Given the description of an element on the screen output the (x, y) to click on. 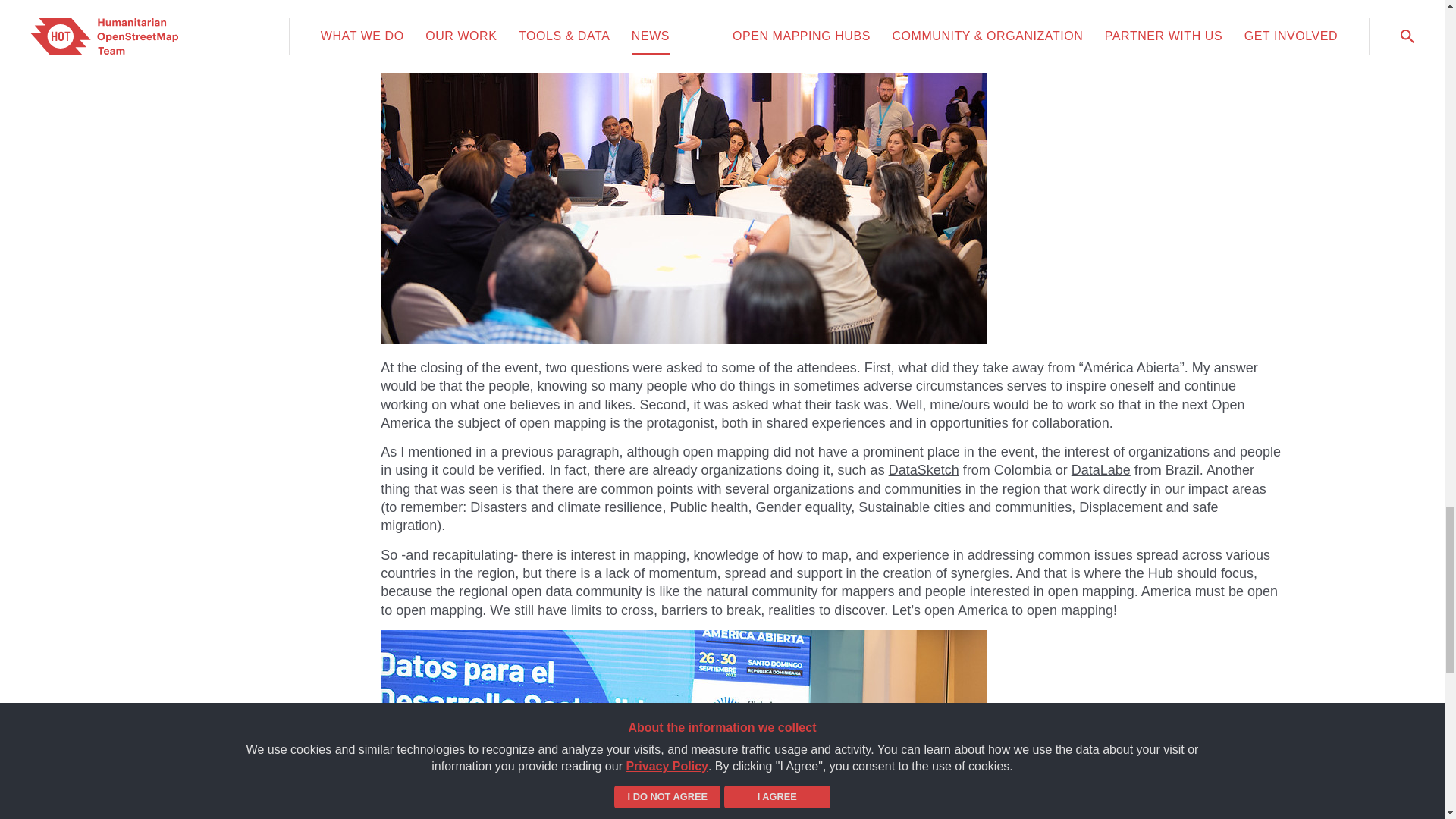
DataLabe (1101, 469)
DataSketch (923, 469)
